Given the description of an element on the screen output the (x, y) to click on. 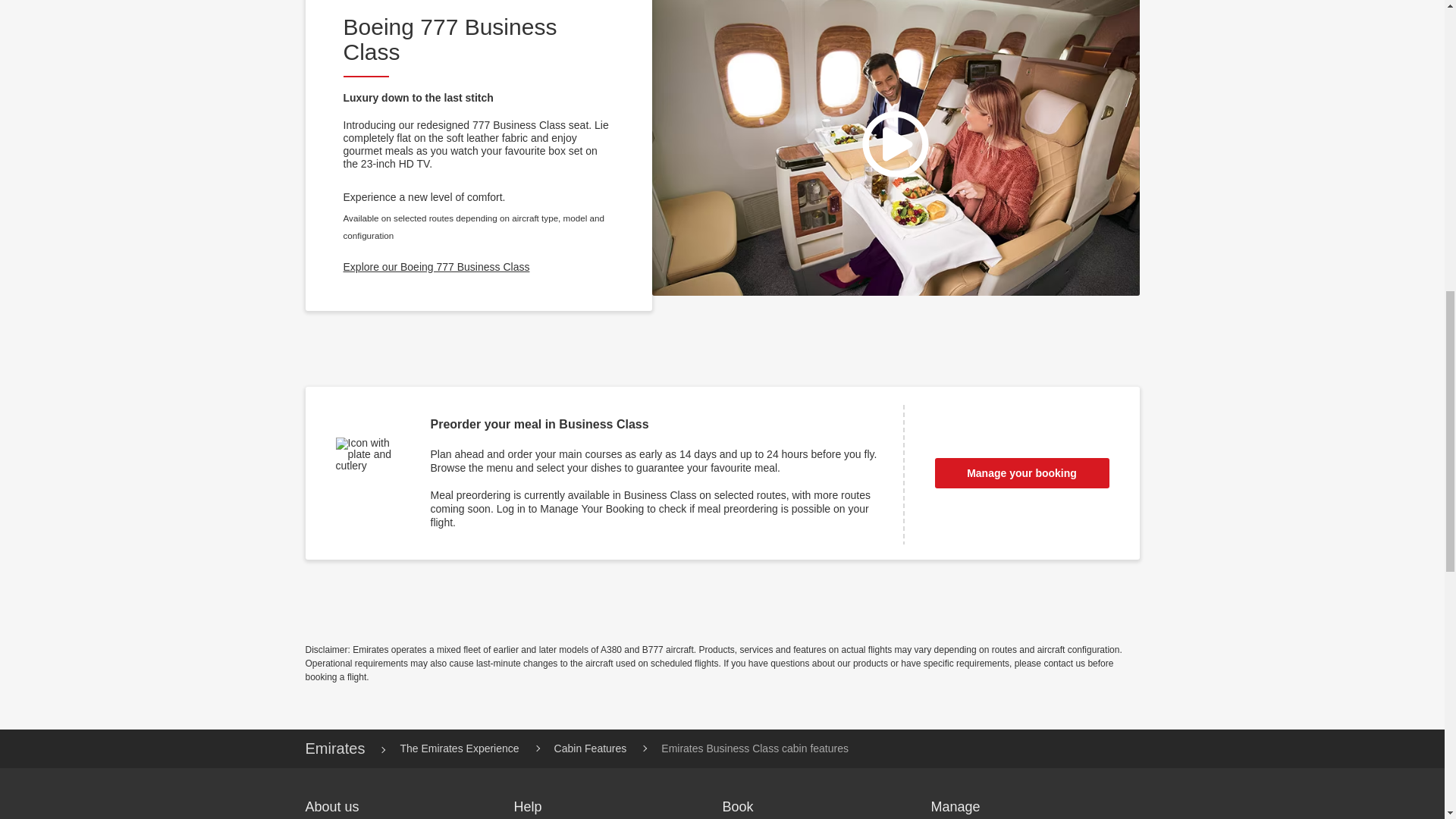
Meal icon (370, 473)
